Given the description of an element on the screen output the (x, y) to click on. 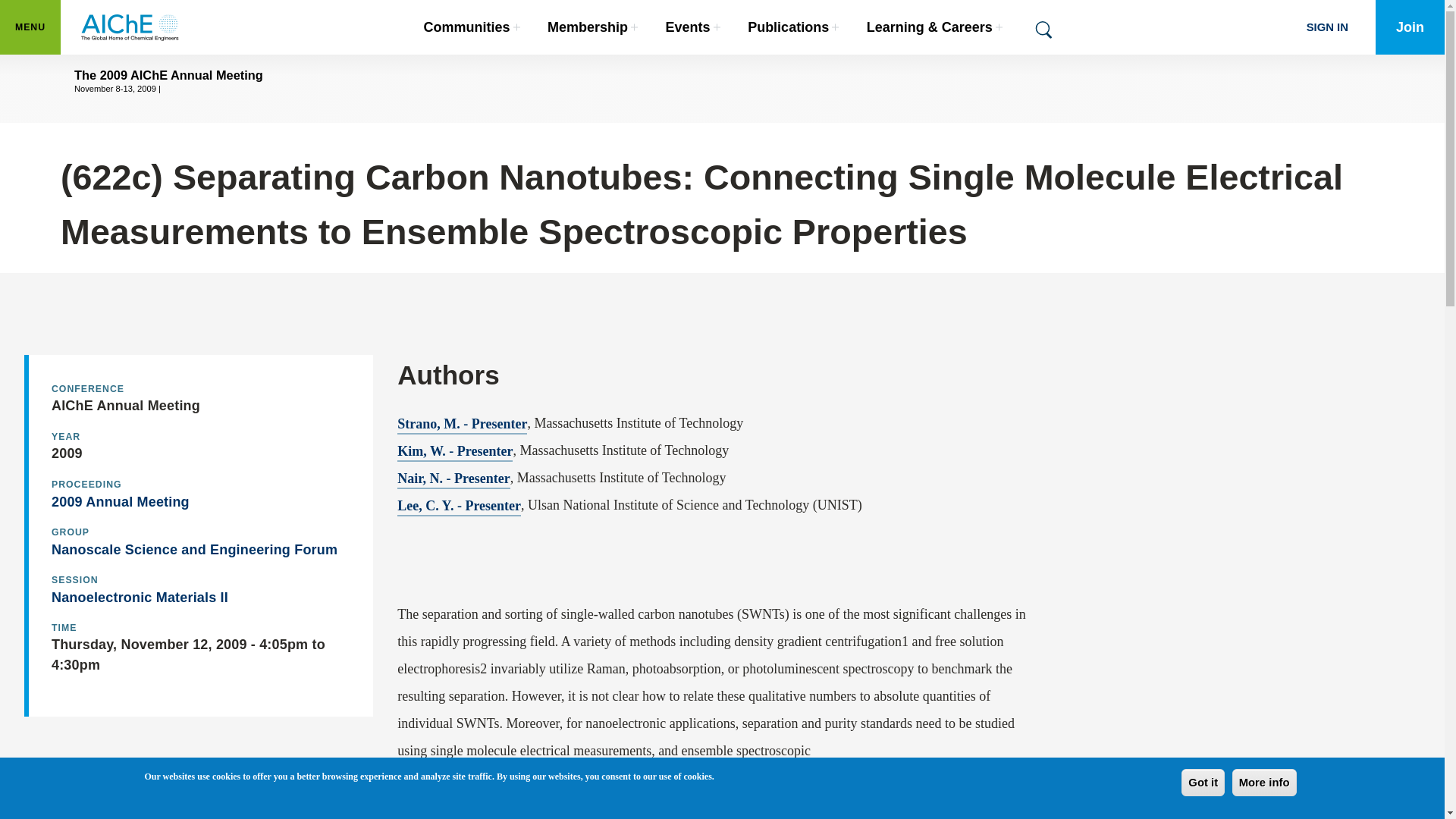
More info (472, 27)
Go to AIChE Home (1264, 782)
Got it (130, 27)
